Given the description of an element on the screen output the (x, y) to click on. 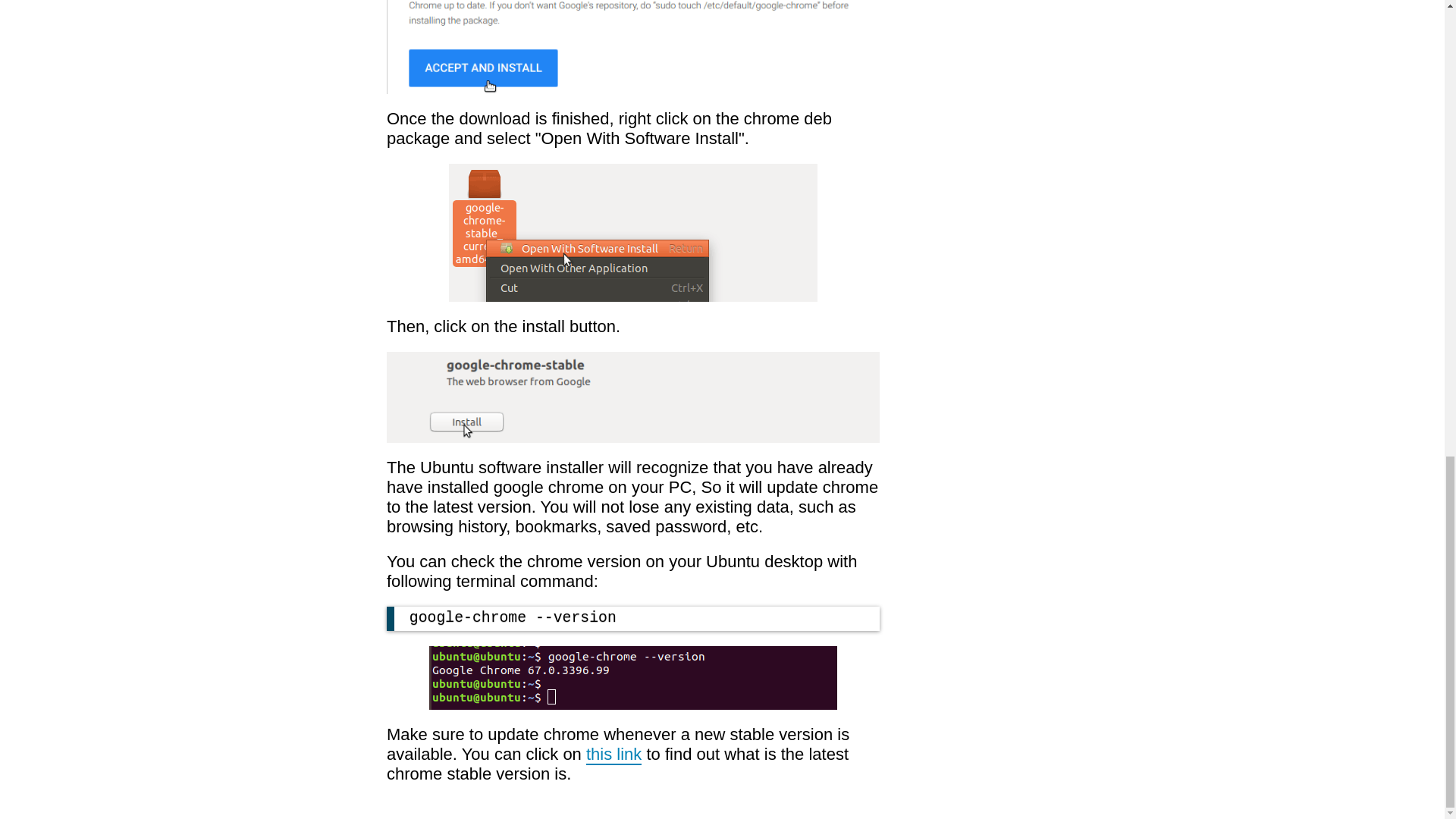
Advertisement (1308, 19)
this link (614, 754)
